Given the description of an element on the screen output the (x, y) to click on. 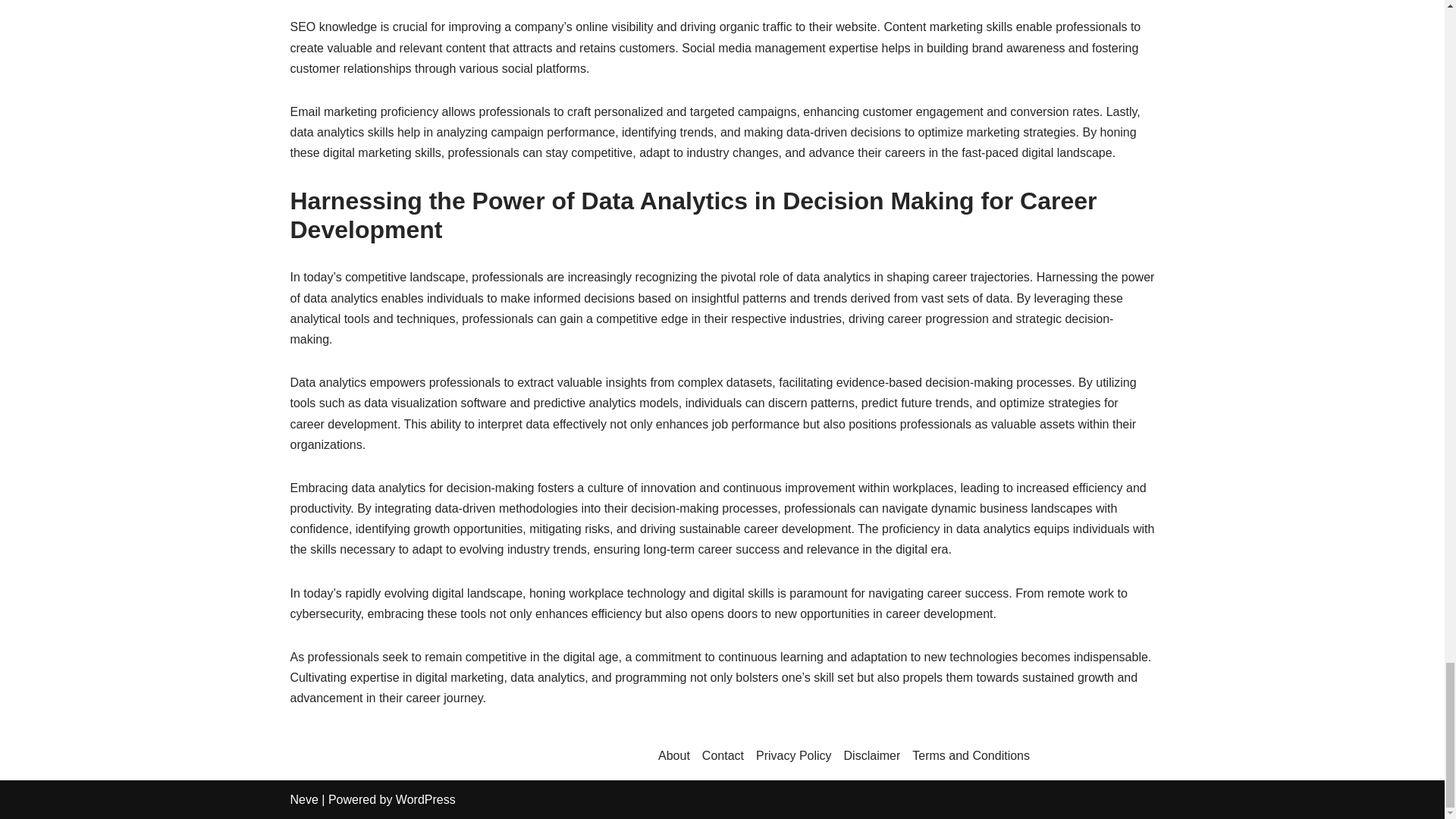
Privacy Policy (793, 756)
WordPress (425, 799)
Contact (722, 756)
Neve (303, 799)
Terms and Conditions (970, 756)
About (674, 756)
Disclaimer (872, 756)
